Given the description of an element on the screen output the (x, y) to click on. 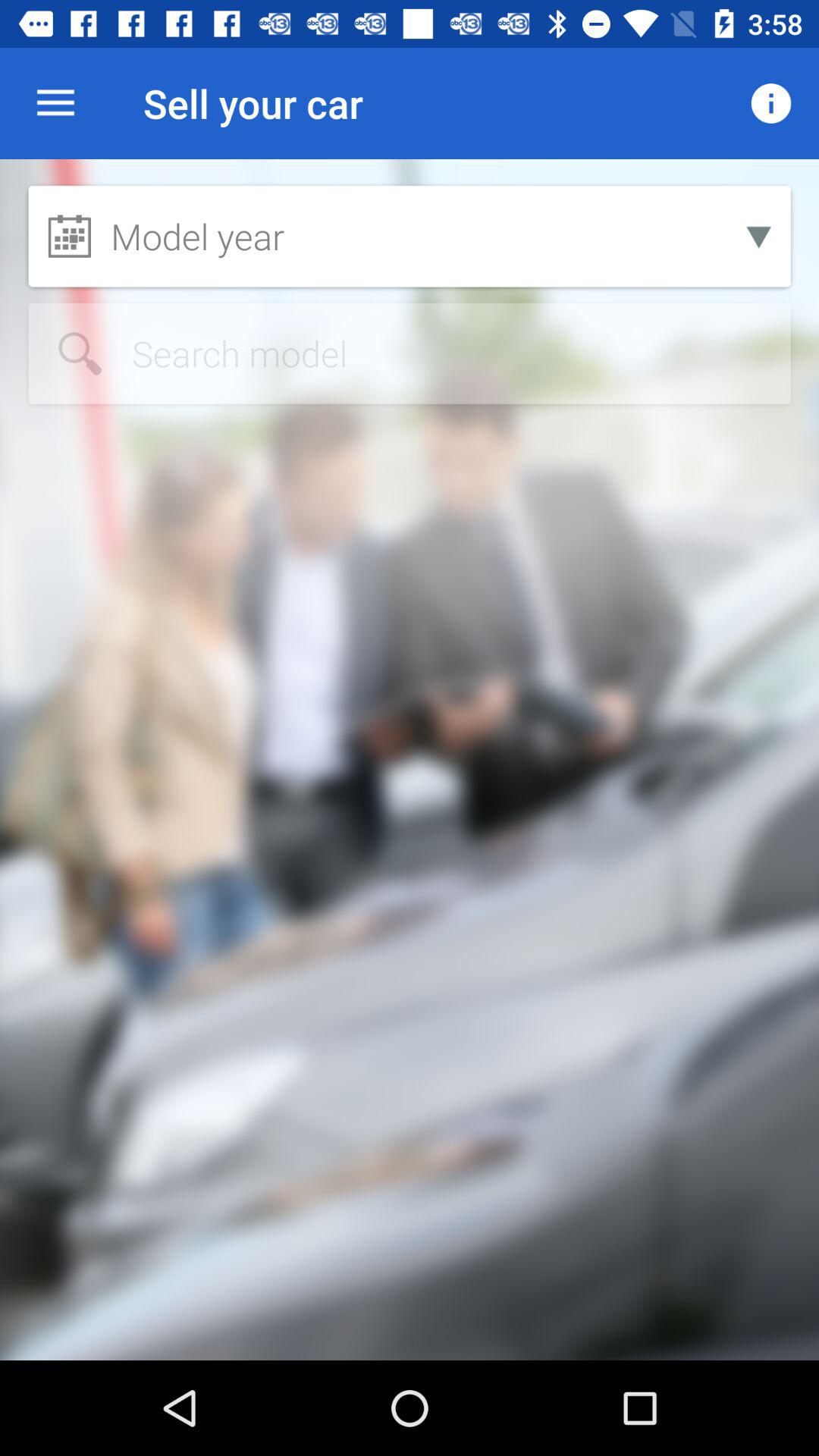
go back (409, 353)
